Given the description of an element on the screen output the (x, y) to click on. 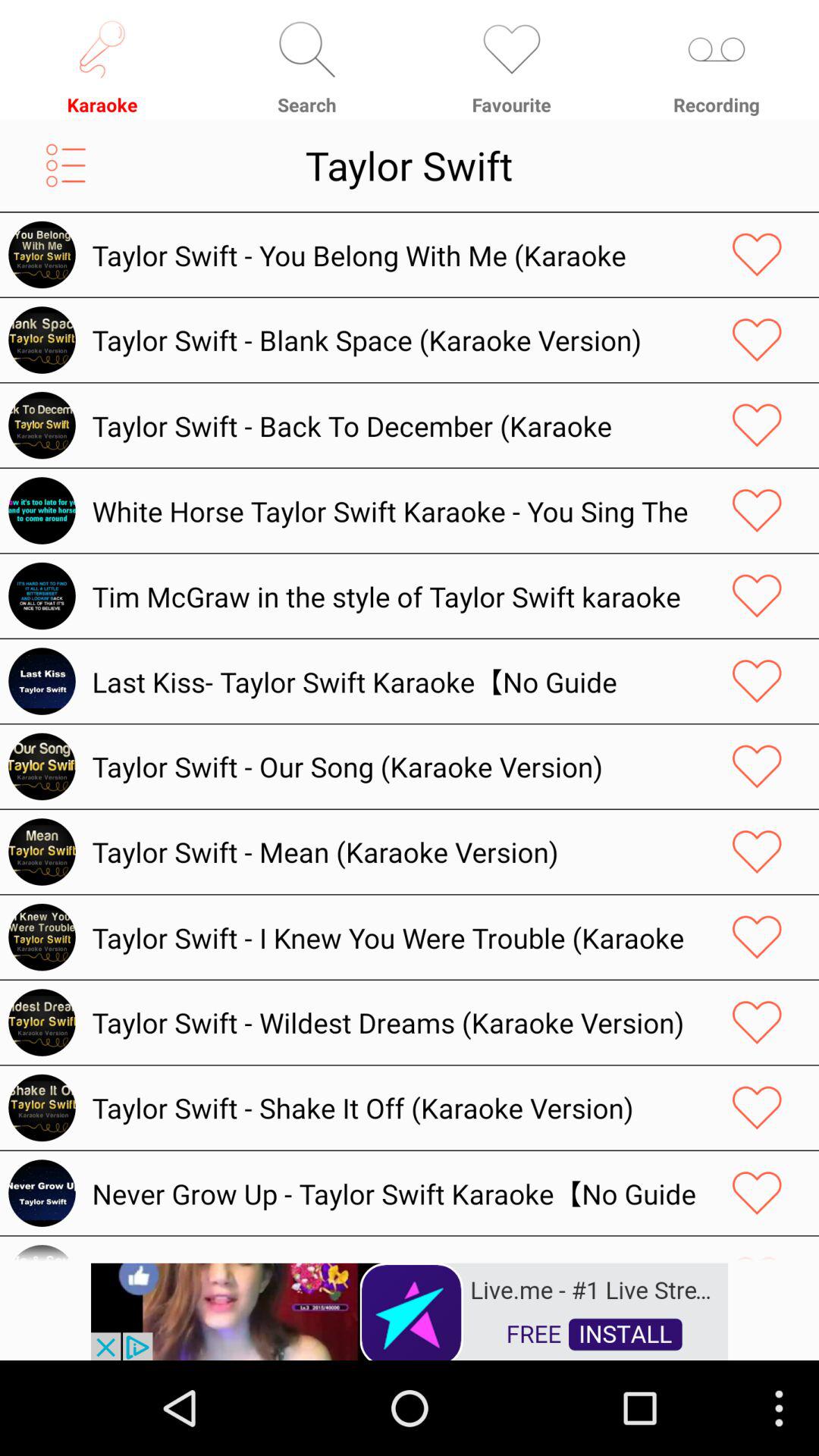
add to playlist (65, 165)
